Given the description of an element on the screen output the (x, y) to click on. 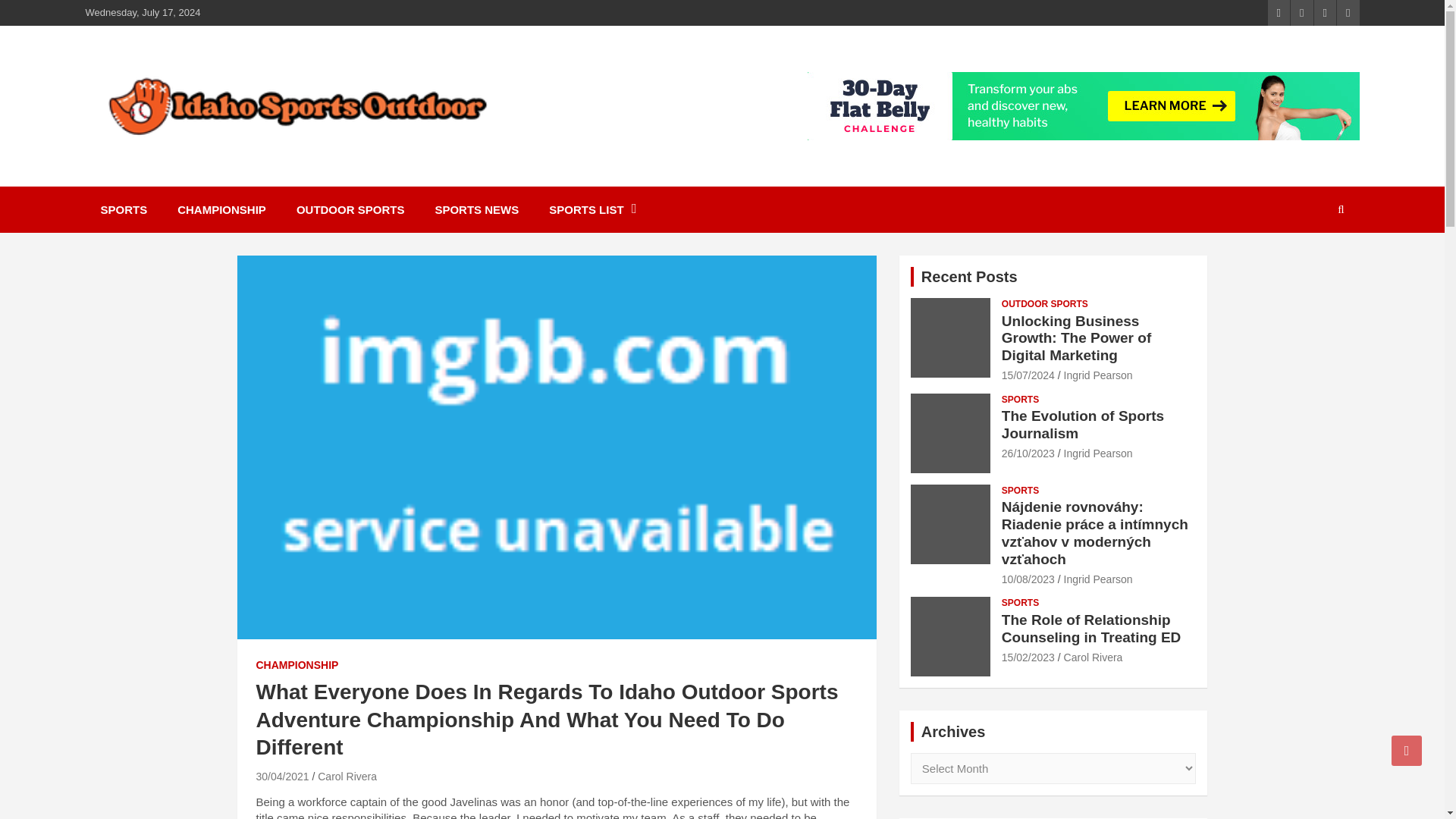
Ingrid Pearson (1098, 453)
The Evolution of Sports Journalism (1027, 453)
SPORTS NEWS (476, 209)
SPORTS (1020, 490)
Ingrid Pearson (1098, 375)
CHAMPIONSHIP (297, 665)
Idaho Sports Outdoor (240, 160)
The Role of Relationship Counseling in Treating ED (1027, 657)
Carol Rivera (347, 776)
CHAMPIONSHIP (221, 209)
SPORTS (1020, 399)
OUTDOOR SPORTS (350, 209)
SPORTS LIST (592, 209)
SPORTS (122, 209)
